Given the description of an element on the screen output the (x, y) to click on. 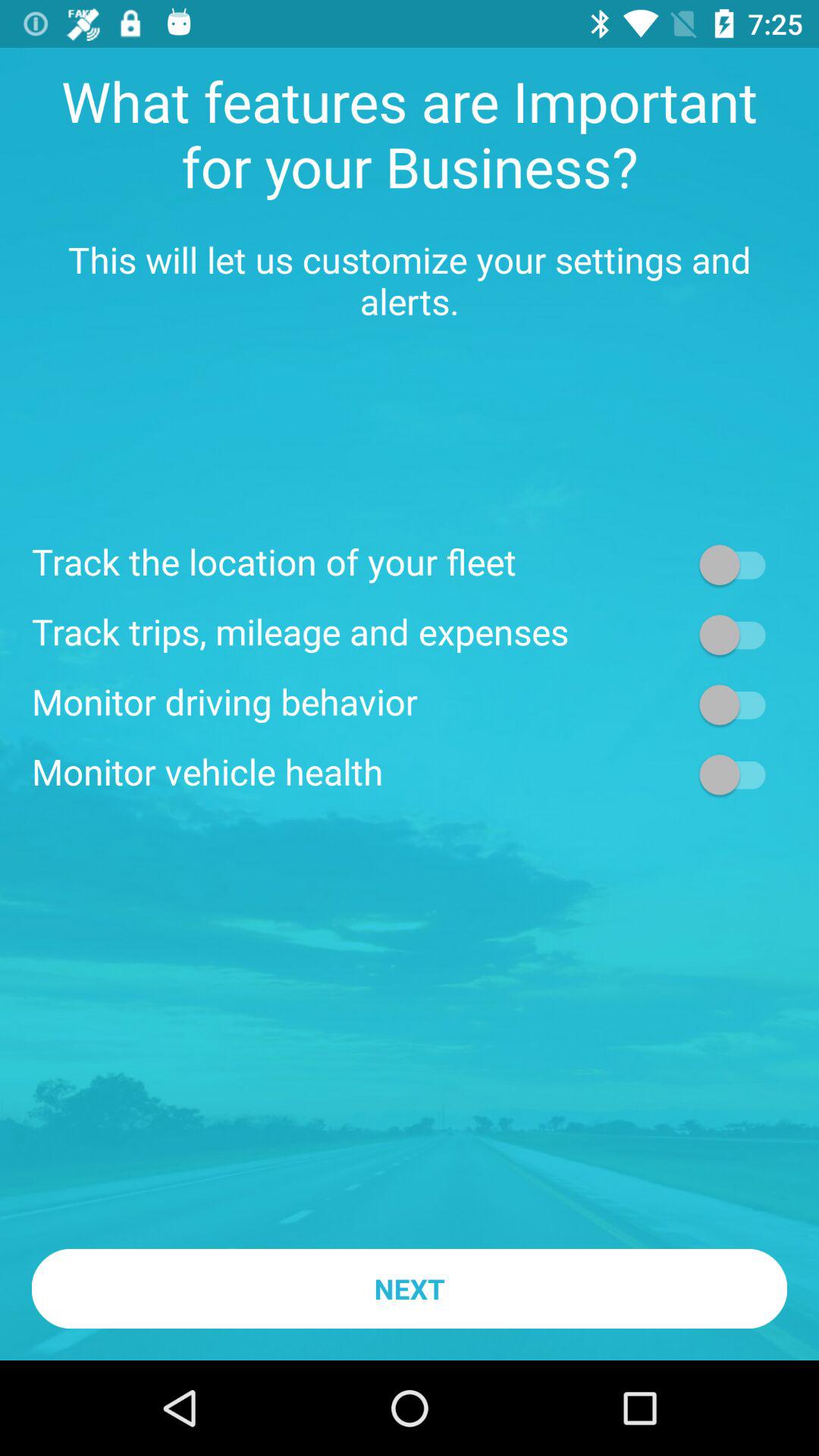
on/off button (739, 774)
